Given the description of an element on the screen output the (x, y) to click on. 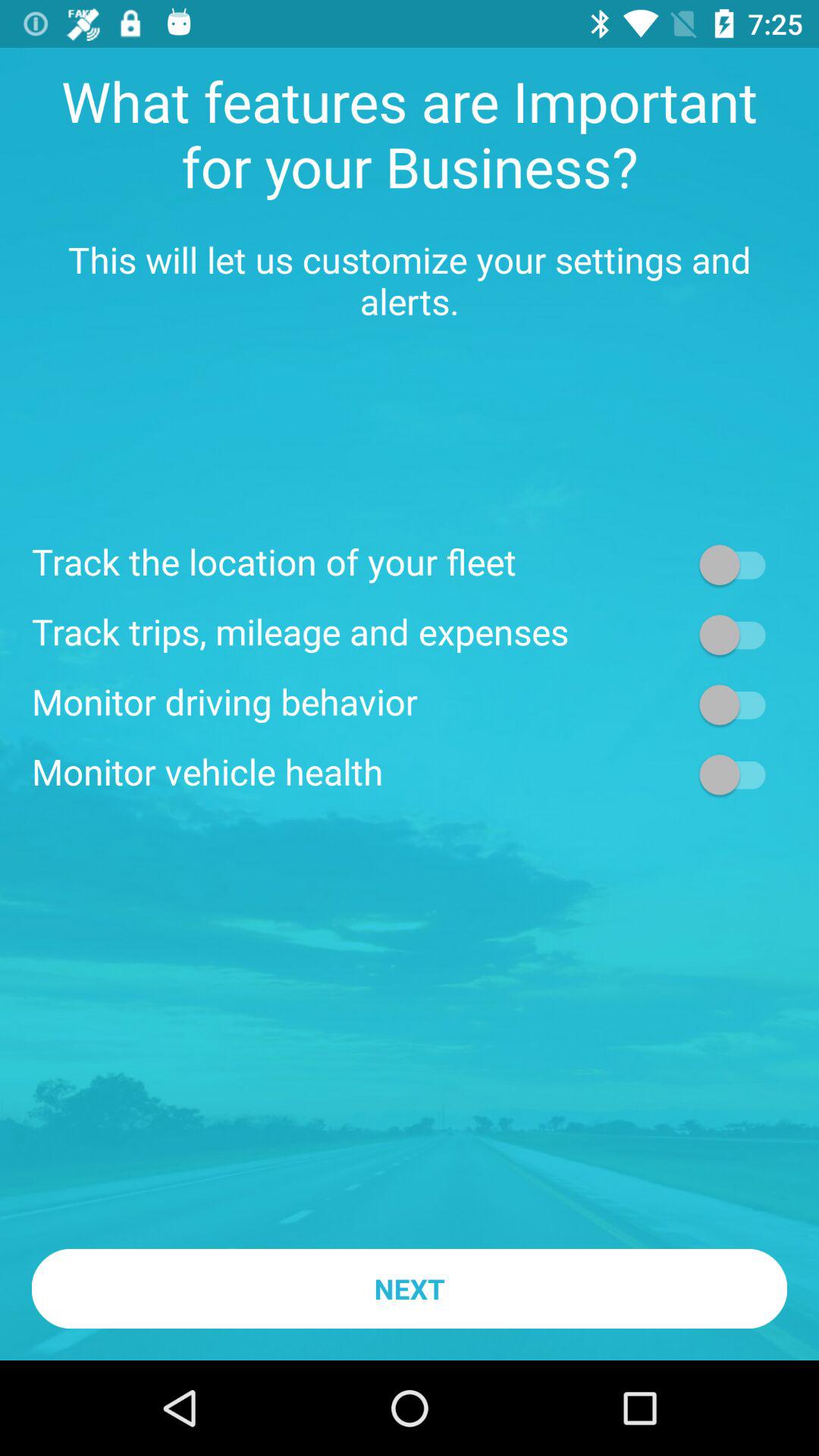
on/off button (739, 774)
